Given the description of an element on the screen output the (x, y) to click on. 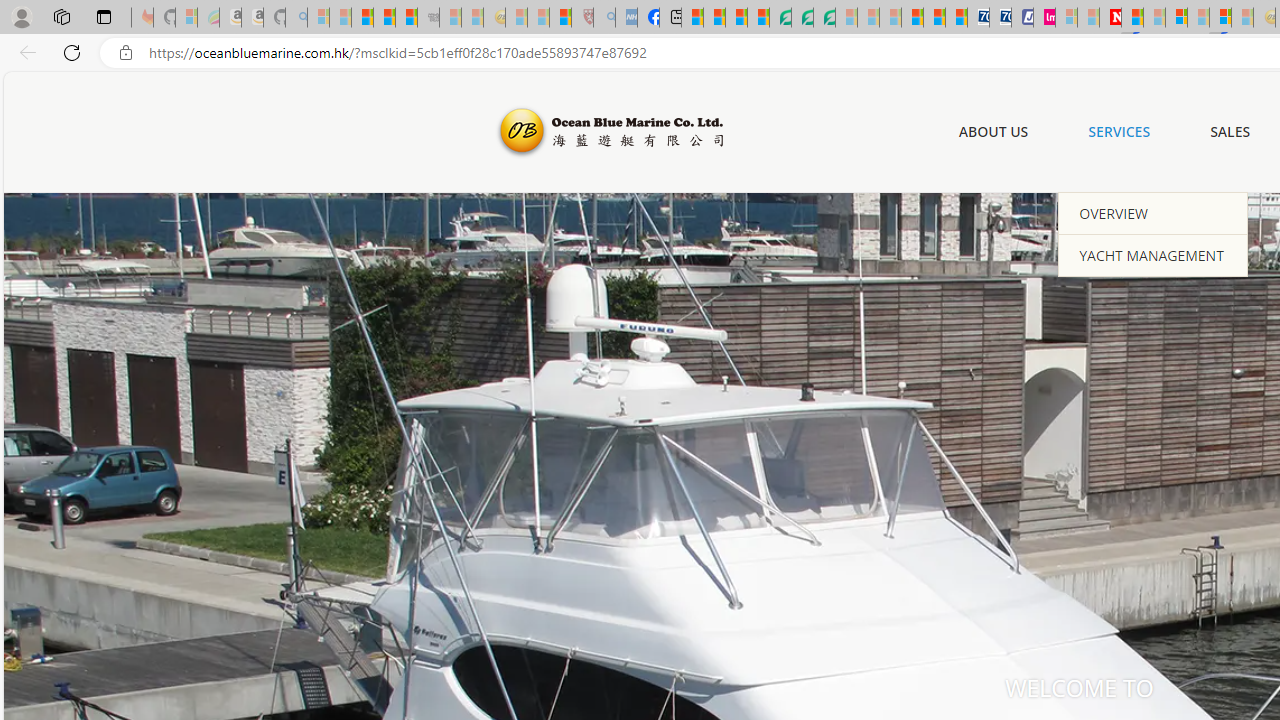
SERVICESOVERVIEWYACHT MANAGEMENT (1119, 132)
Terms of Use Agreement (802, 17)
Local - MSN (560, 17)
